Given the description of an element on the screen output the (x, y) to click on. 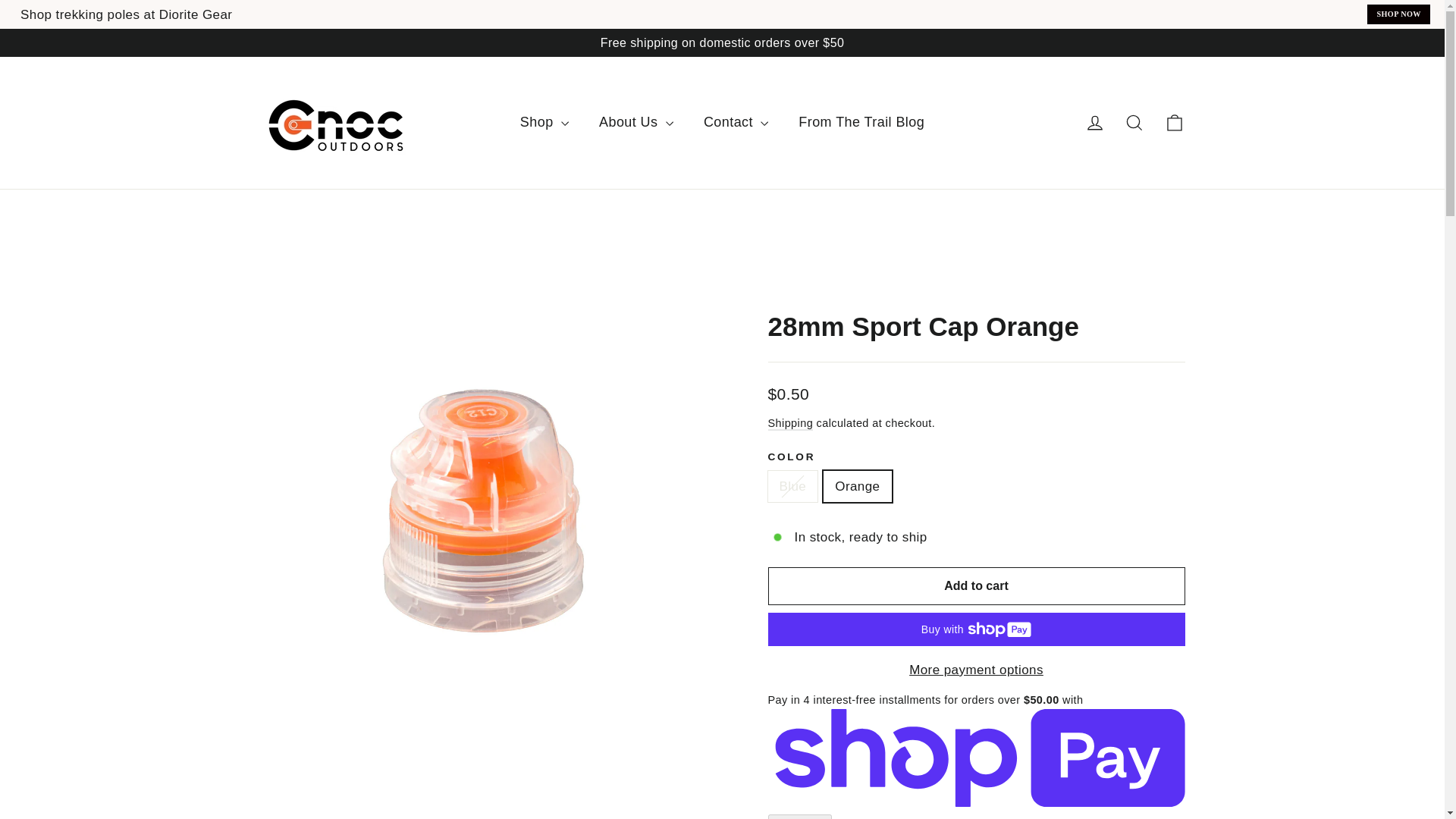
account (1094, 122)
icon-bag-minimal (1174, 122)
icon-search (1134, 122)
SHOP NOW (1398, 14)
